Given the description of an element on the screen output the (x, y) to click on. 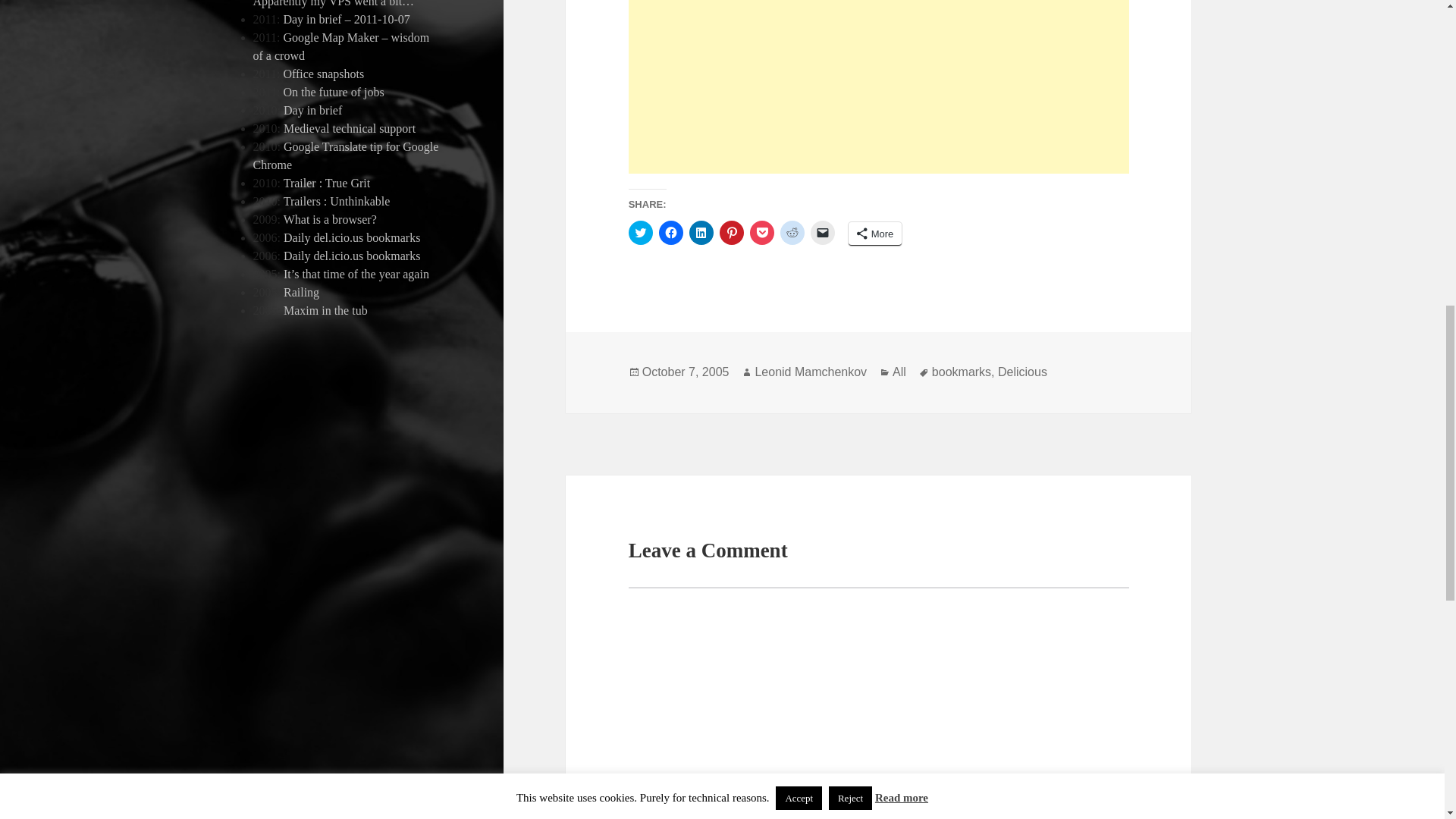
Trailers : Unthinkable (336, 201)
Advertisement (878, 86)
Day in brief (312, 110)
Click to share on Pinterest (731, 232)
On the future of jobs (333, 91)
Daily del.icio.us bookmarks (351, 255)
Google Translate tip for Google Chrome (346, 155)
Click to share on Reddit (792, 232)
Click to share on Facebook (670, 232)
Medieval technical support (348, 128)
Office snapshots (323, 73)
Daily del.icio.us bookmarks (351, 237)
Railing (300, 291)
Click to share on Twitter (640, 232)
Click to share on LinkedIn (700, 232)
